Given the description of an element on the screen output the (x, y) to click on. 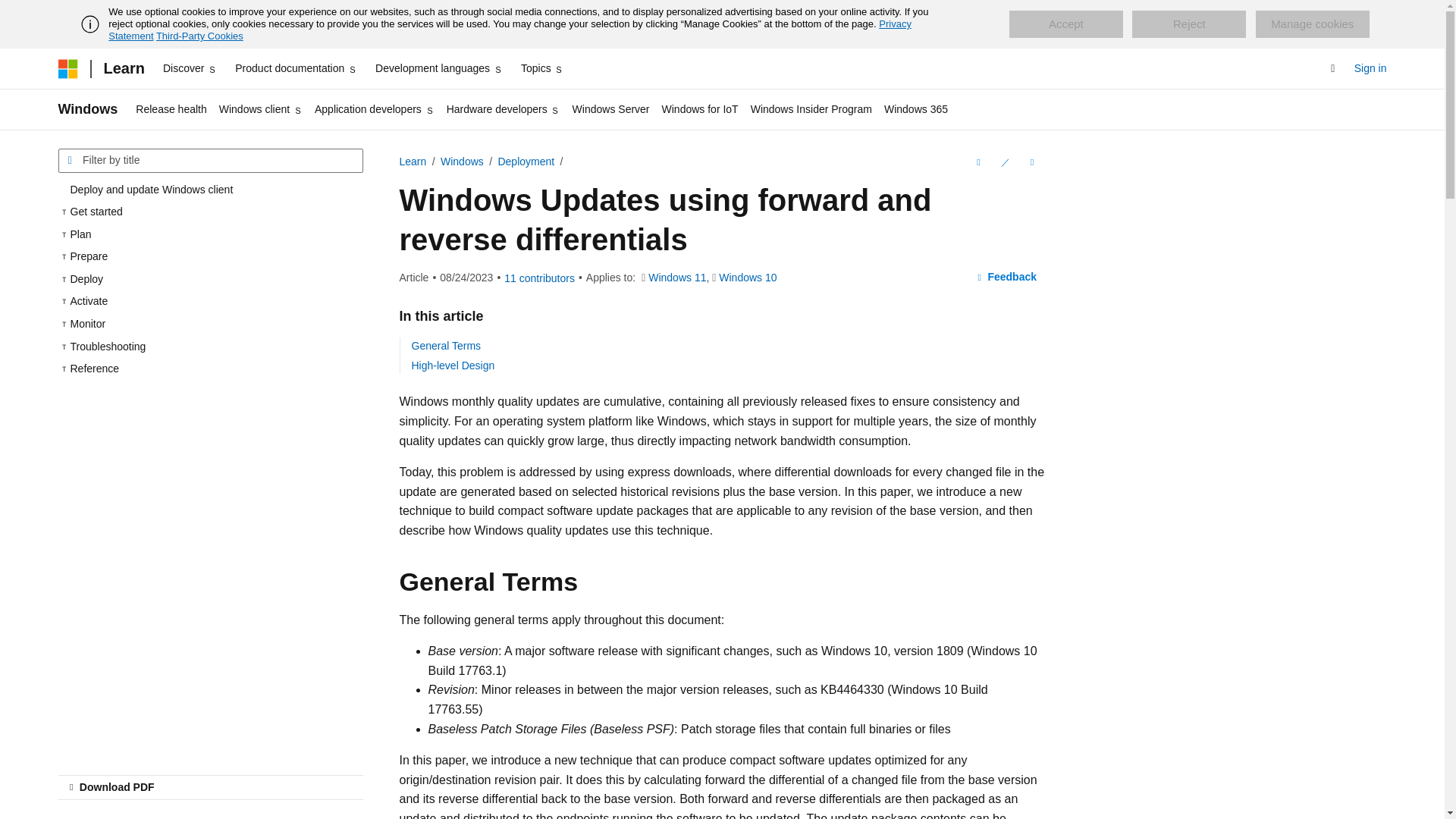
View all contributors (539, 277)
Release health (170, 109)
Reject (1189, 23)
Manage cookies (1312, 23)
Sign in (1370, 68)
Windows client (260, 109)
Edit This Document (1004, 161)
Discover (189, 68)
Topics (542, 68)
Application developers (374, 109)
Skip to main content (11, 11)
Windows (87, 109)
Product documentation (295, 68)
Learn (123, 68)
Privacy Statement (509, 29)
